Given the description of an element on the screen output the (x, y) to click on. 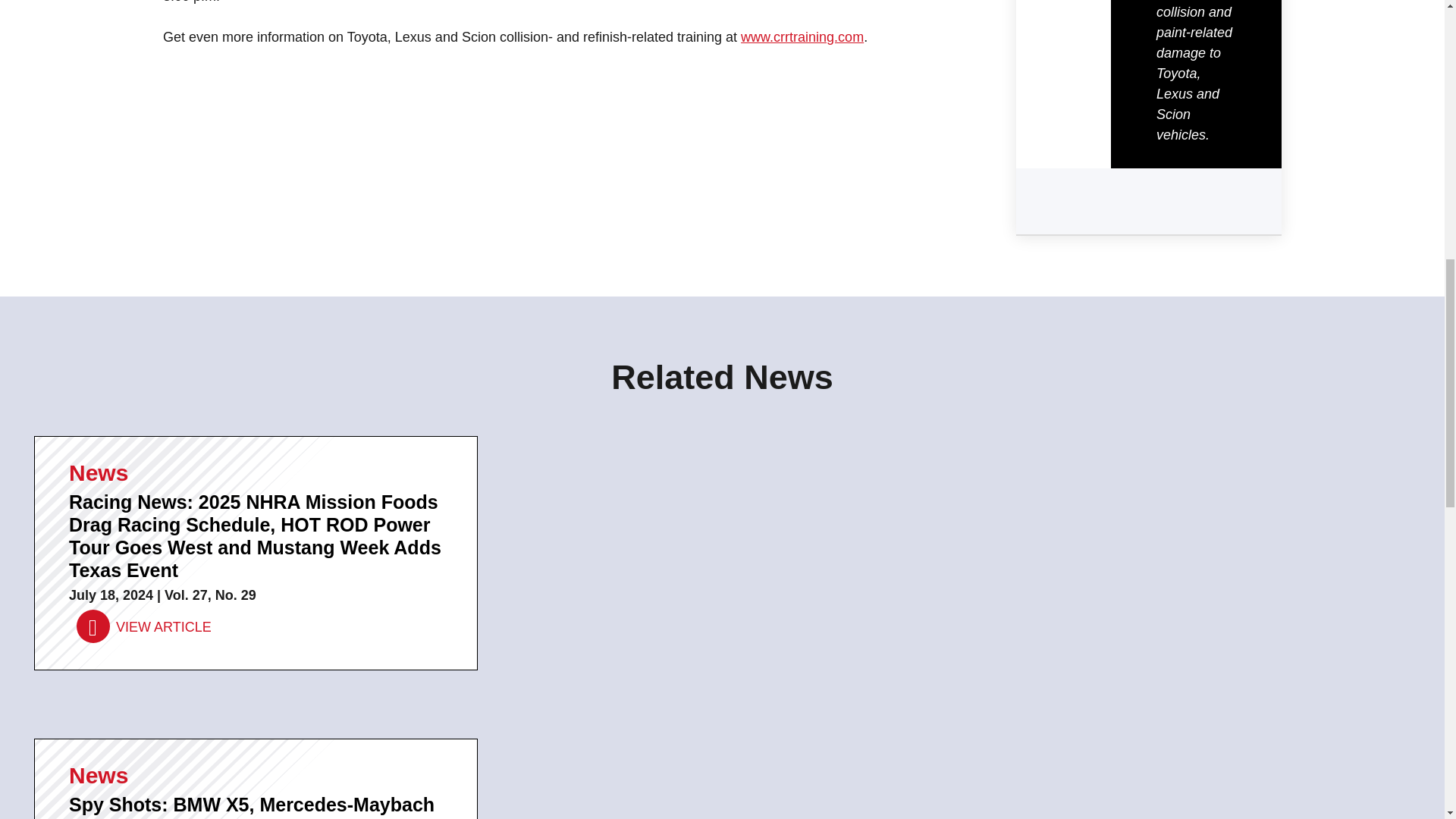
www.crrtraining.com (802, 37)
VIEW ARTICLE (143, 626)
